Given the description of an element on the screen output the (x, y) to click on. 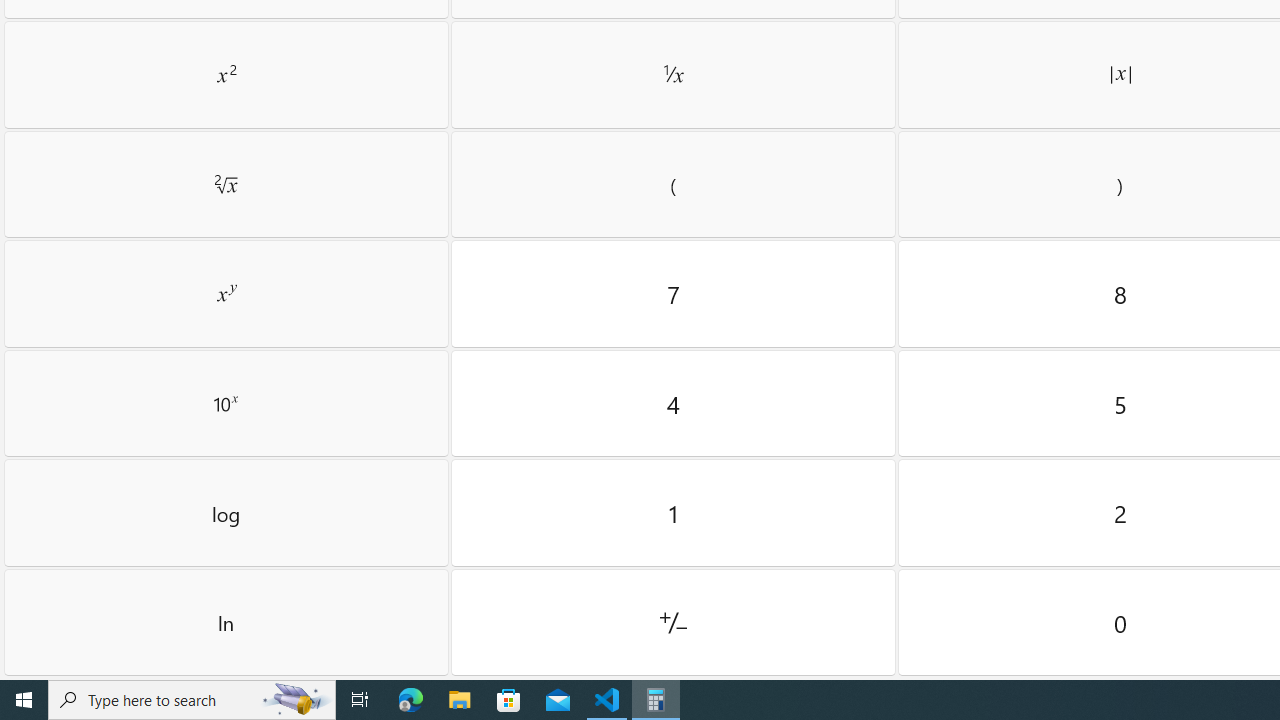
Calculator - 1 running window (656, 699)
Microsoft Edge (411, 699)
Start (24, 699)
Type here to search (191, 699)
Natural log (226, 622)
Ten to the exponent (226, 403)
One (673, 513)
